Given the description of an element on the screen output the (x, y) to click on. 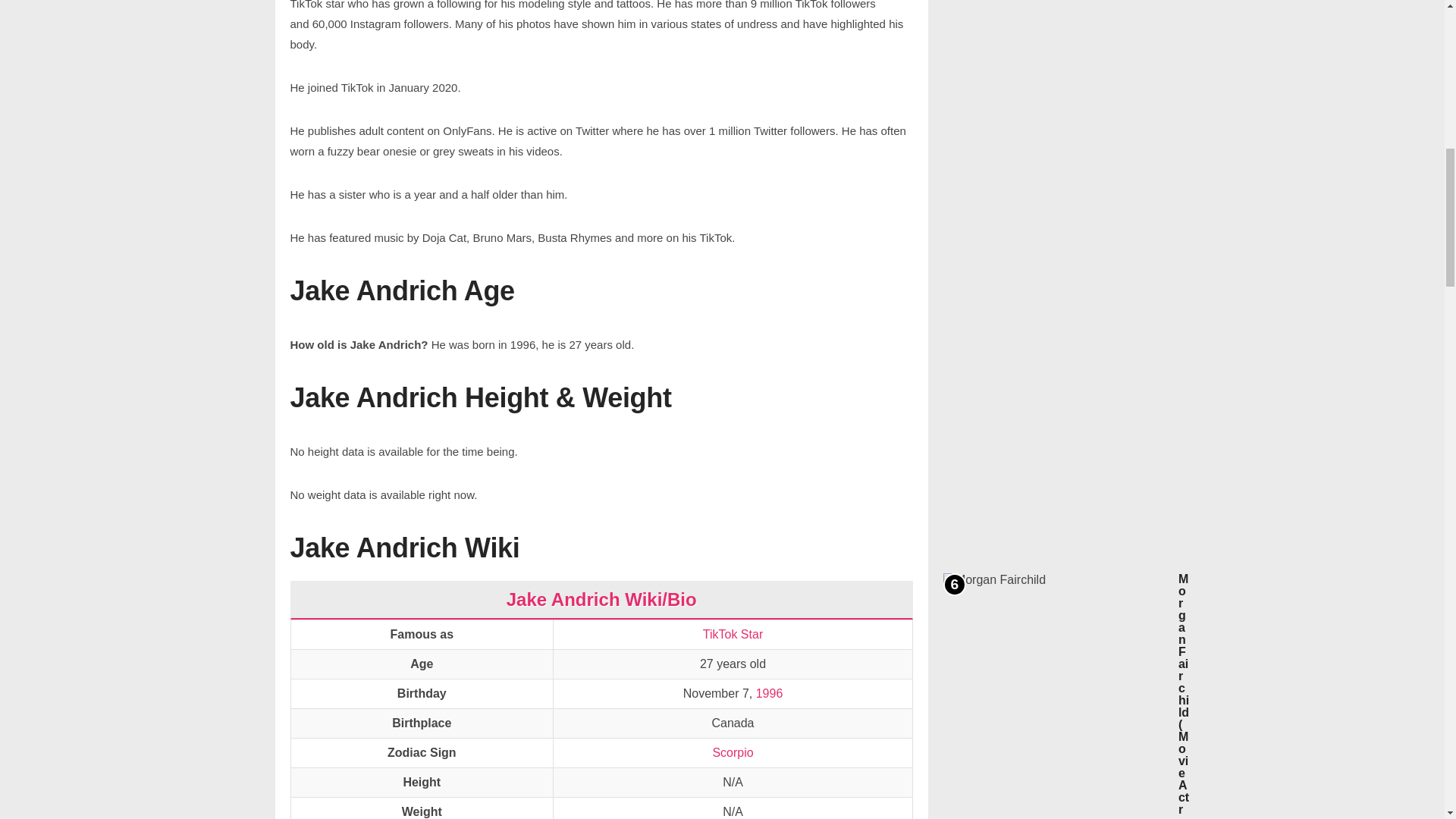
1996 (769, 694)
Scorpio (731, 753)
TikTok Star (732, 634)
